Given the description of an element on the screen output the (x, y) to click on. 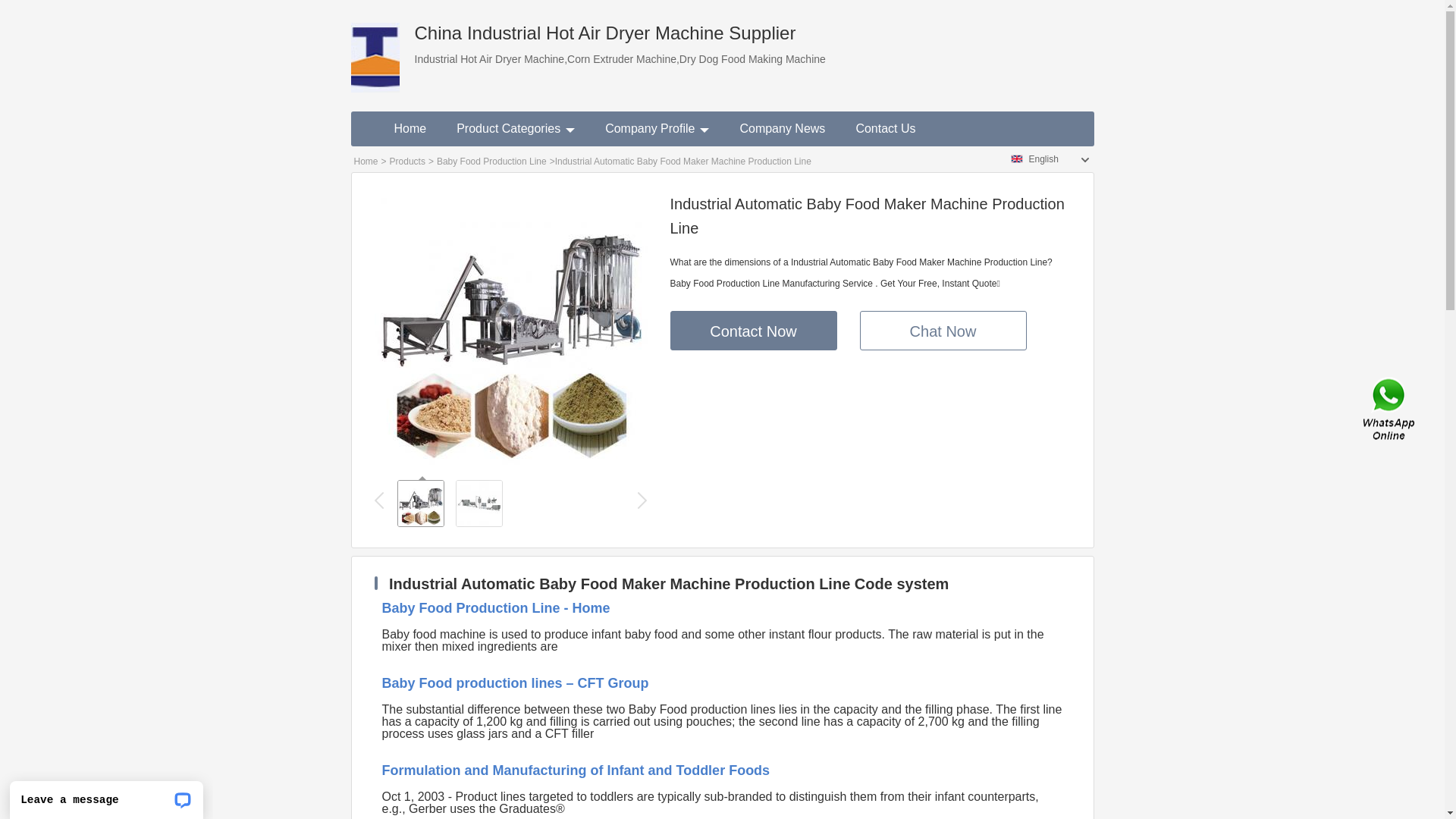
Product Categories Element type: text (515, 128)
Products Element type: text (407, 161)
China Industrial Hot Air Dryer Machine Supplier Element type: hover (374, 46)
Baby Food Production Line Element type: text (491, 161)
Home Element type: text (365, 161)
Chat Now Element type: text (942, 330)
Contact Now Element type: text (753, 330)
Company News Element type: text (782, 128)
Contact Us Element type: text (885, 128)
Contact Us Element type: hover (1389, 409)
Home Element type: text (410, 128)
Company Profile Element type: text (656, 128)
